Given the description of an element on the screen output the (x, y) to click on. 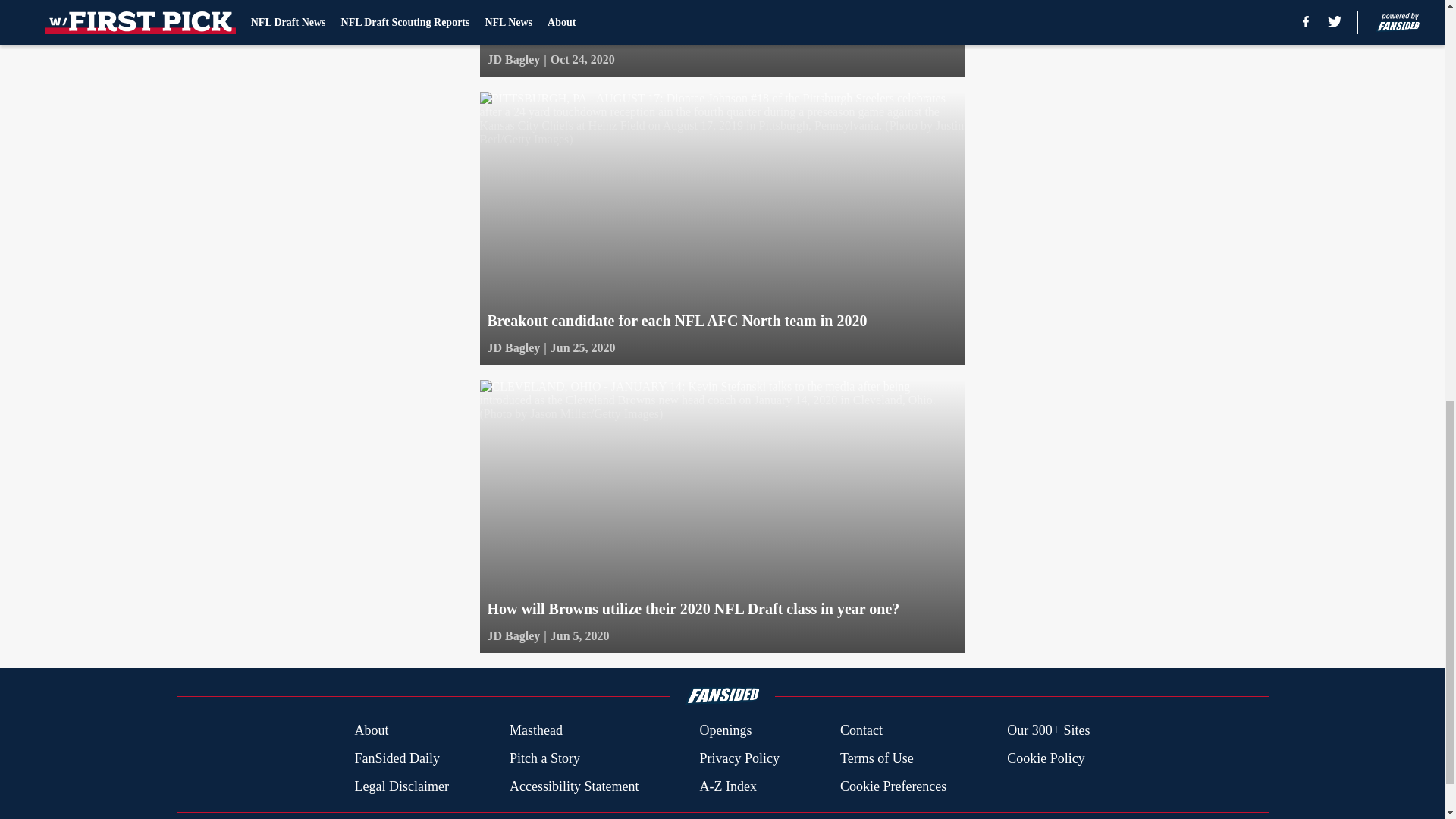
FanSided Daily (396, 758)
Cookie Policy (1045, 758)
A-Z Index (726, 786)
Terms of Use (877, 758)
Breakout candidate for each NFL AFC North team in 2020 (721, 227)
Privacy Policy (738, 758)
JD Bagley (513, 59)
JD Bagley (513, 636)
Accessibility Statement (574, 786)
Masthead (535, 730)
Pitch a Story (544, 758)
JD Bagley (513, 348)
About (370, 730)
Contact (861, 730)
